Given the description of an element on the screen output the (x, y) to click on. 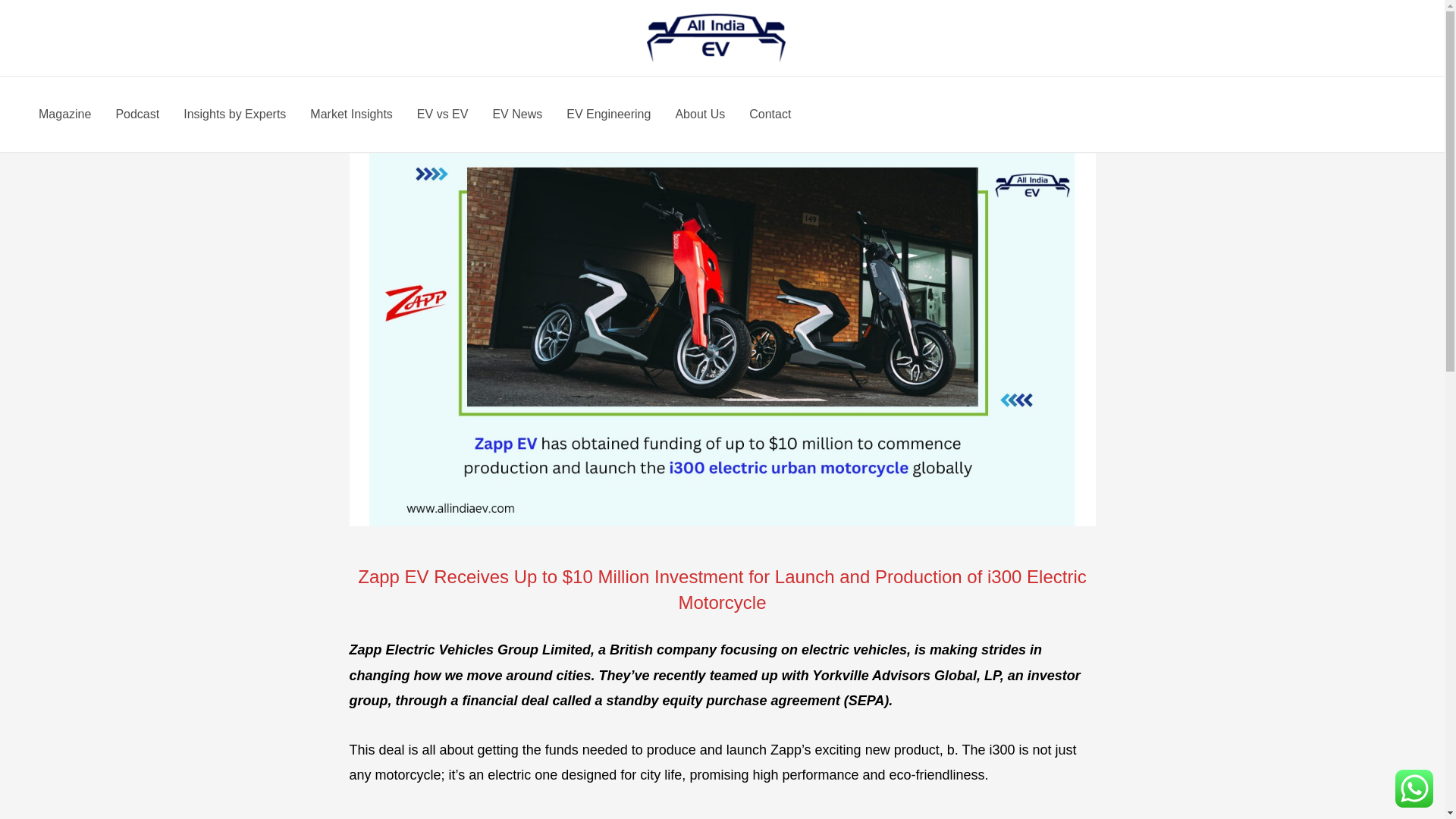
Magazine (64, 114)
Insights by Experts (234, 114)
EV vs EV (442, 114)
EV Engineering (608, 114)
About Us (699, 114)
Podcast (137, 114)
EV News (517, 114)
Market Insights (351, 114)
